Given the description of an element on the screen output the (x, y) to click on. 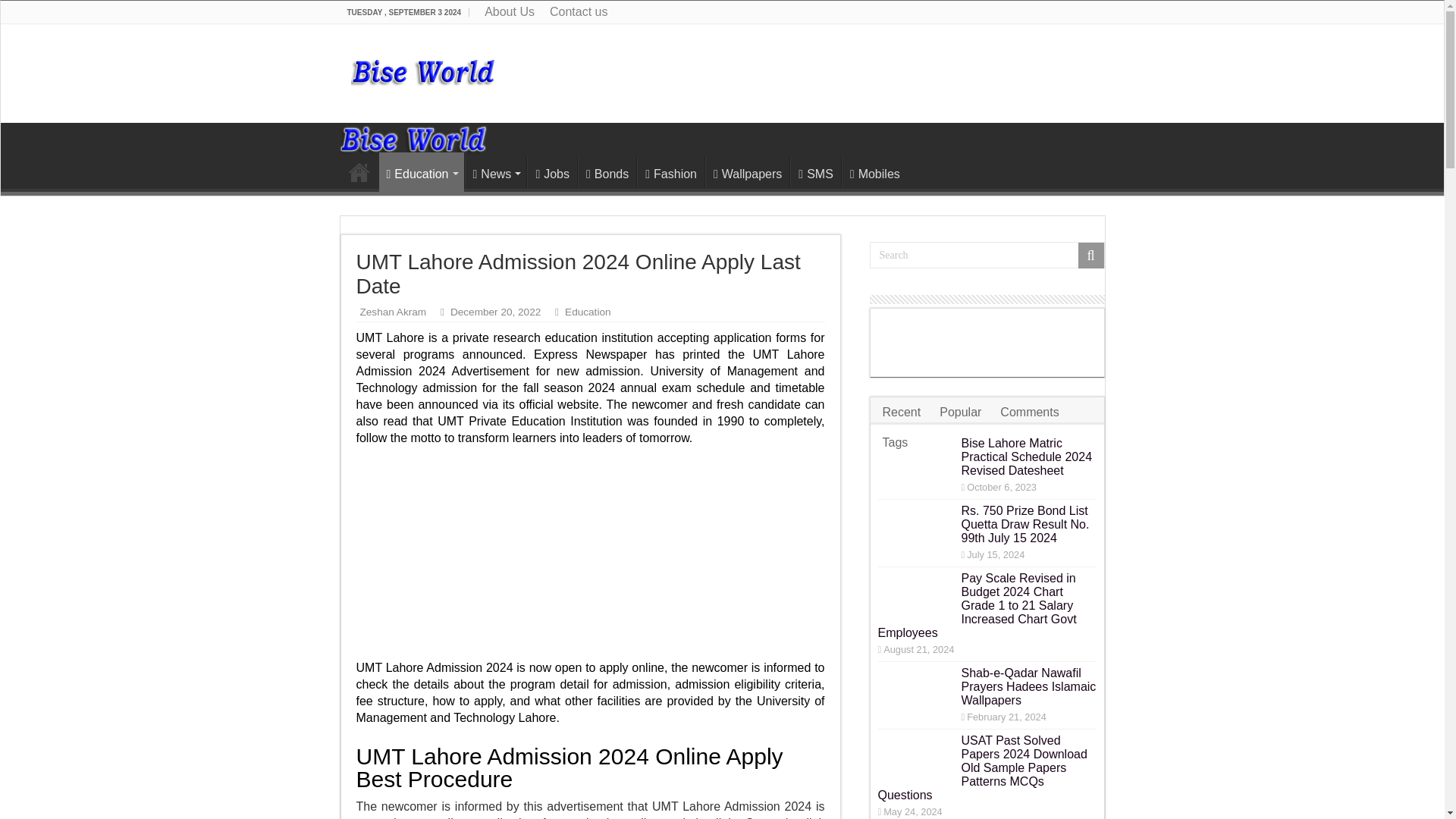
News (495, 172)
Fashion (670, 172)
Bonds (607, 172)
Search (986, 254)
Education (587, 311)
Bise World (413, 137)
SMS (815, 172)
Mobiles (874, 172)
About Us (509, 11)
Home (358, 172)
